Given the description of an element on the screen output the (x, y) to click on. 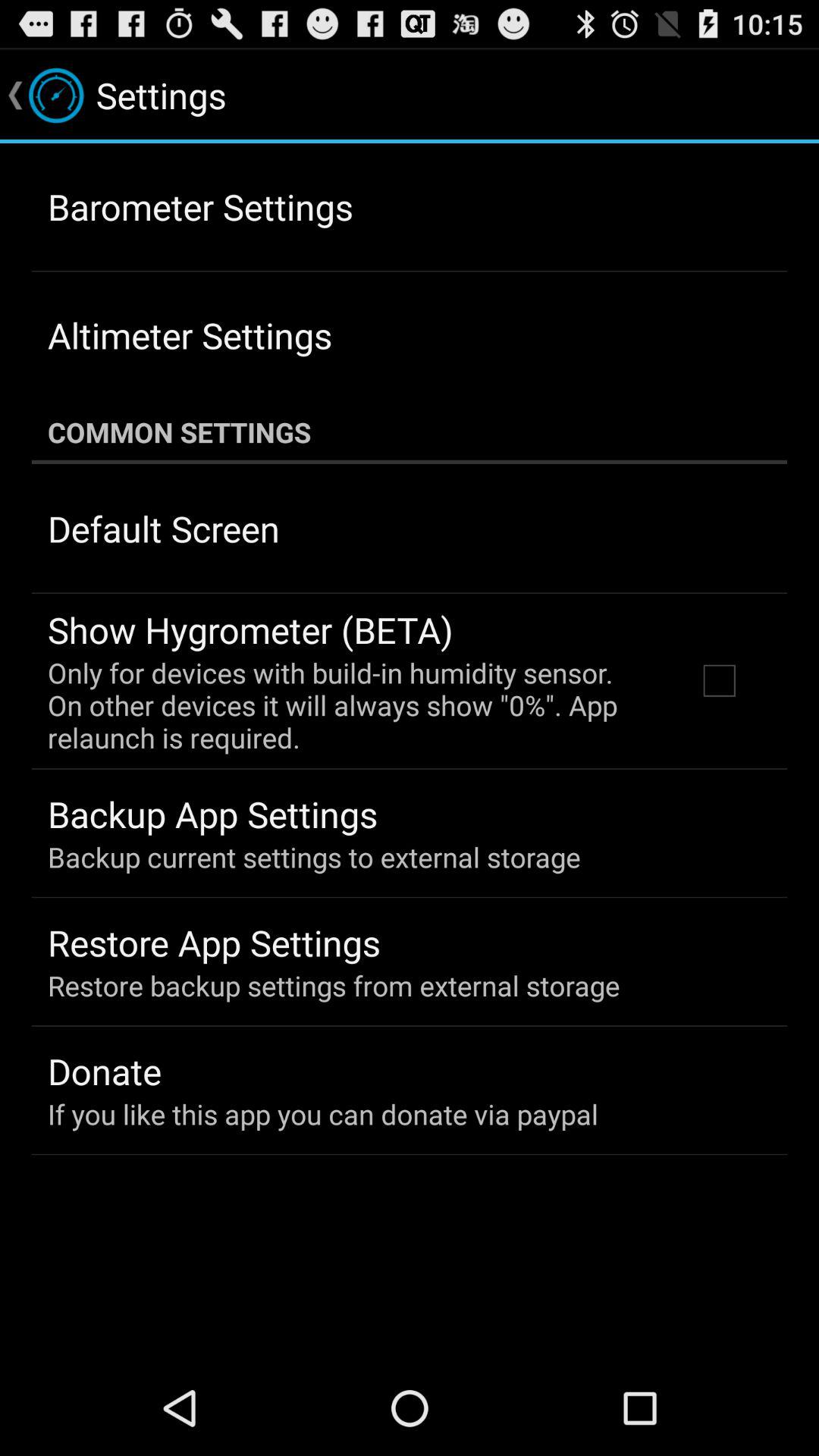
swipe until the show hygrometer (beta) app (250, 629)
